Given the description of an element on the screen output the (x, y) to click on. 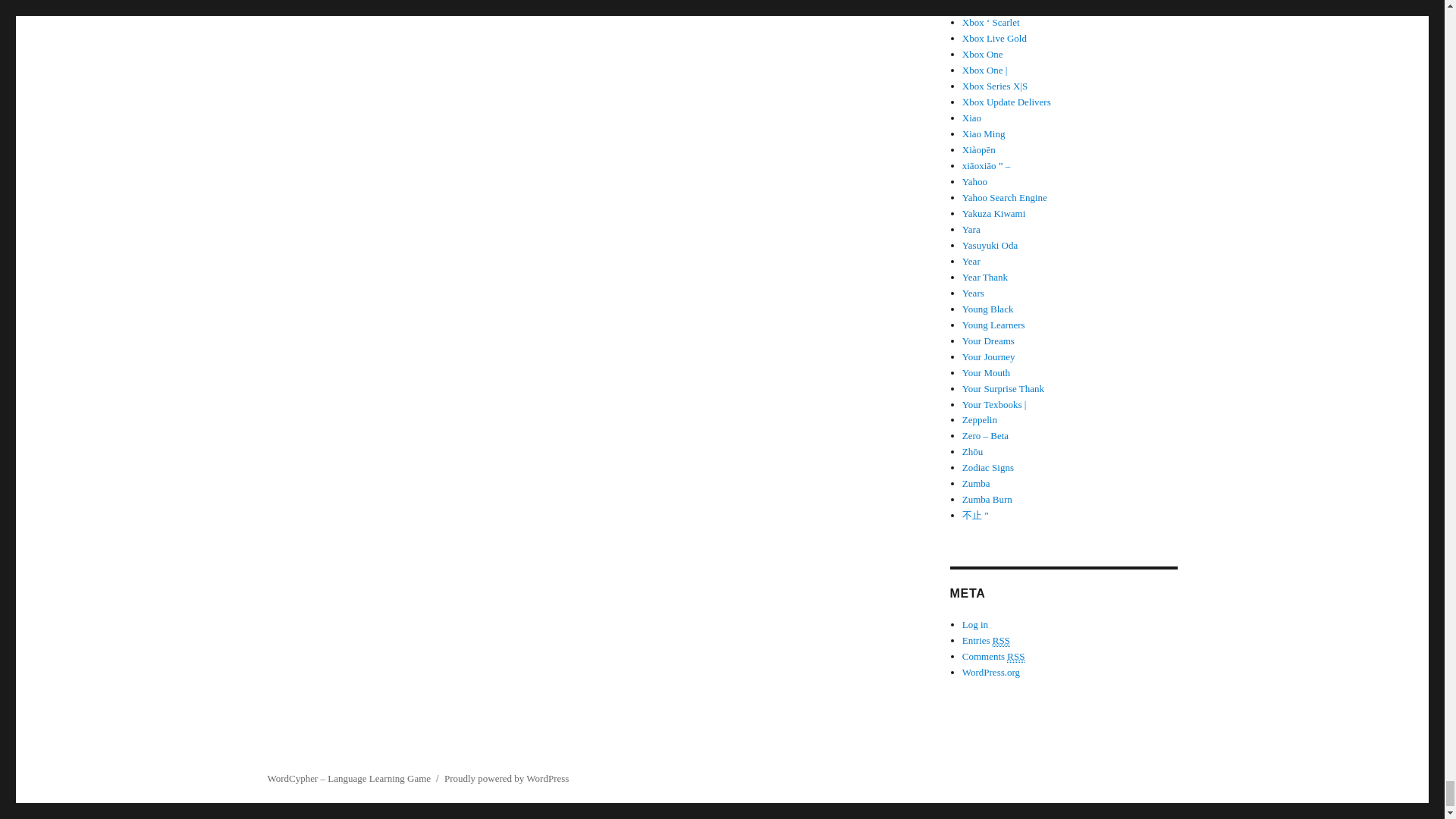
Really Simple Syndication (1001, 640)
Really Simple Syndication (1016, 656)
